Given the description of an element on the screen output the (x, y) to click on. 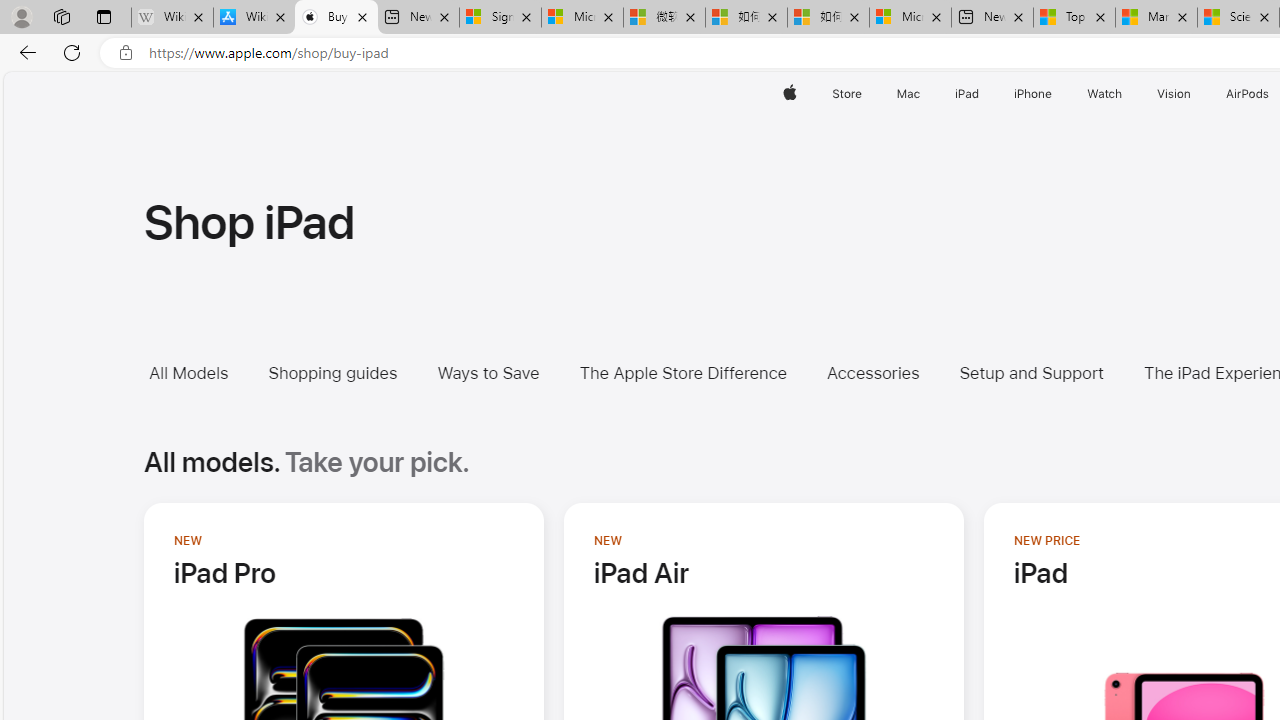
Apple (789, 93)
Accessories (872, 372)
Mac (908, 93)
Mac menu (922, 93)
Mac (908, 93)
Microsoft account | Account Checkup (910, 17)
iPhone (1033, 93)
AirPods (1247, 93)
Watch (1105, 93)
The Apple Store Difference (697, 372)
iPad (965, 93)
